Given the description of an element on the screen output the (x, y) to click on. 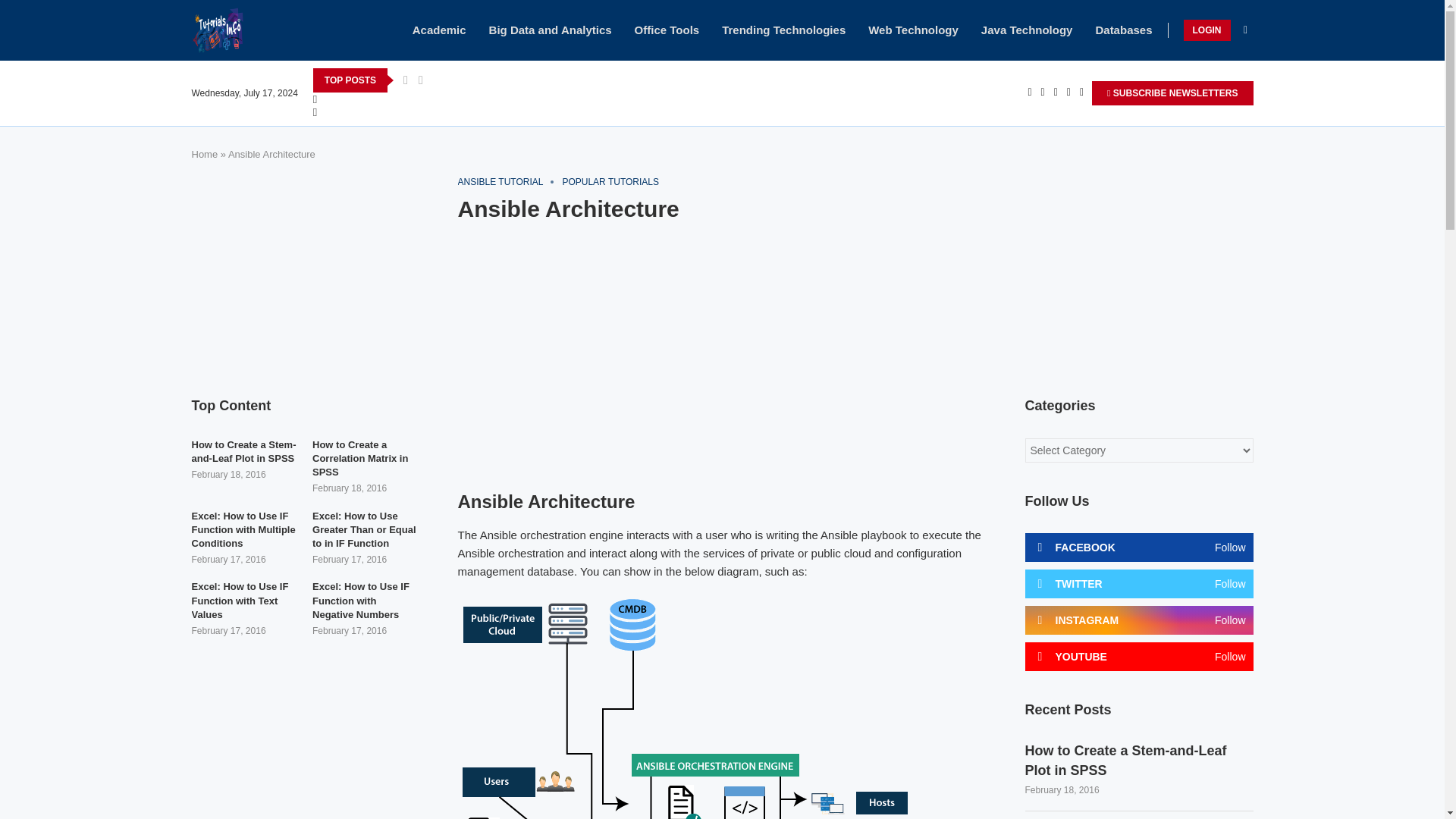
Office Tools (667, 30)
Advertisement (1139, 271)
How to Create a Stem-and-Leaf Plot in SPSS (1139, 760)
Academic (438, 30)
Advertisement (722, 347)
Big Data and Analytics (550, 30)
Trending Technologies (783, 30)
Databases (1122, 30)
LOGIN (1206, 29)
Web Technology (912, 30)
Java Technology (1027, 30)
